Given the description of an element on the screen output the (x, y) to click on. 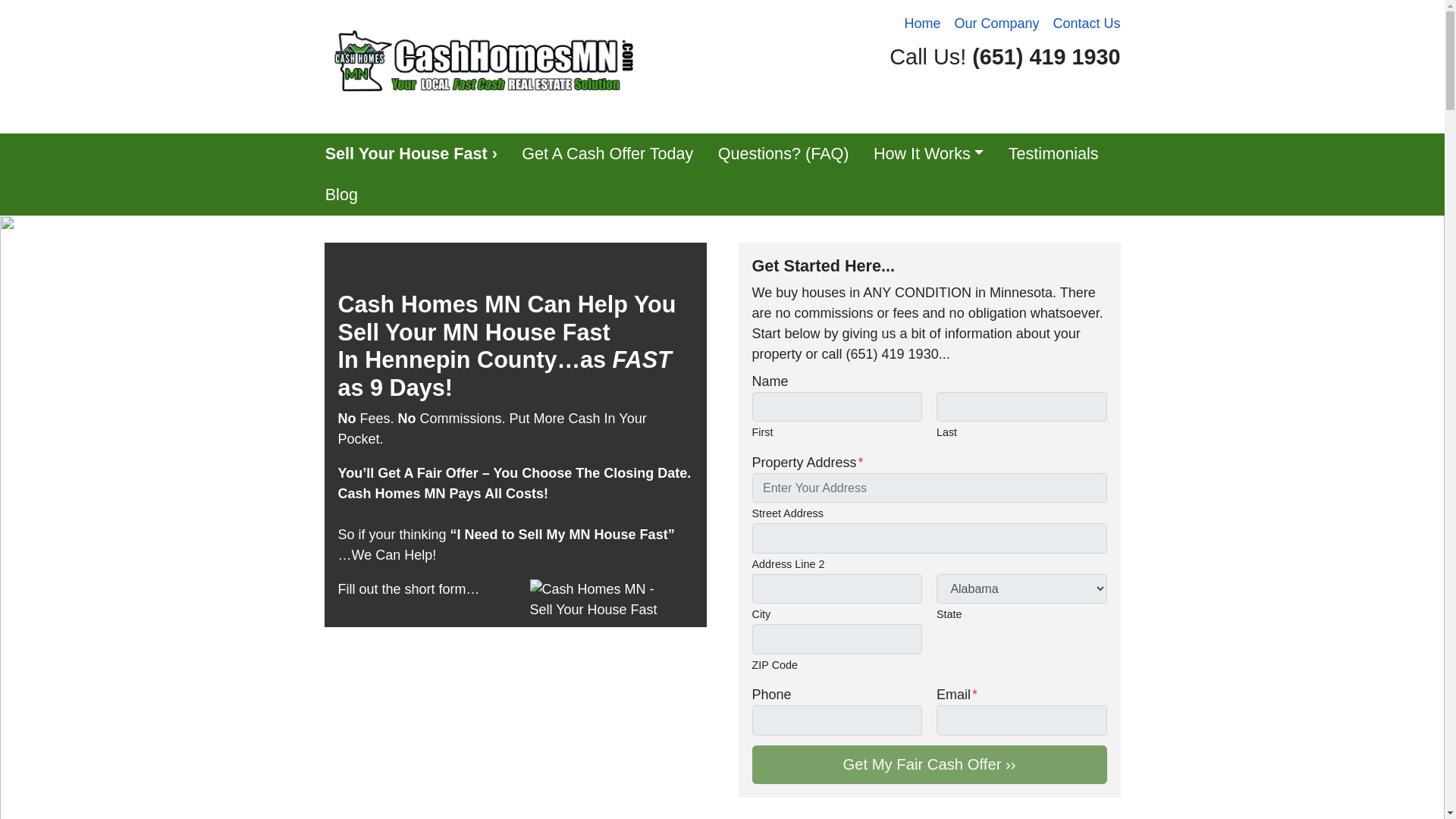
Get A Cash Offer Today (606, 153)
Testimonials (1052, 153)
How It Works (928, 153)
Our Company (996, 23)
Blog (341, 194)
Home (921, 23)
Contact Us (1085, 23)
Get A Cash Offer Today (606, 153)
How It Works (928, 153)
Testimonials (1052, 153)
